Given the description of an element on the screen output the (x, y) to click on. 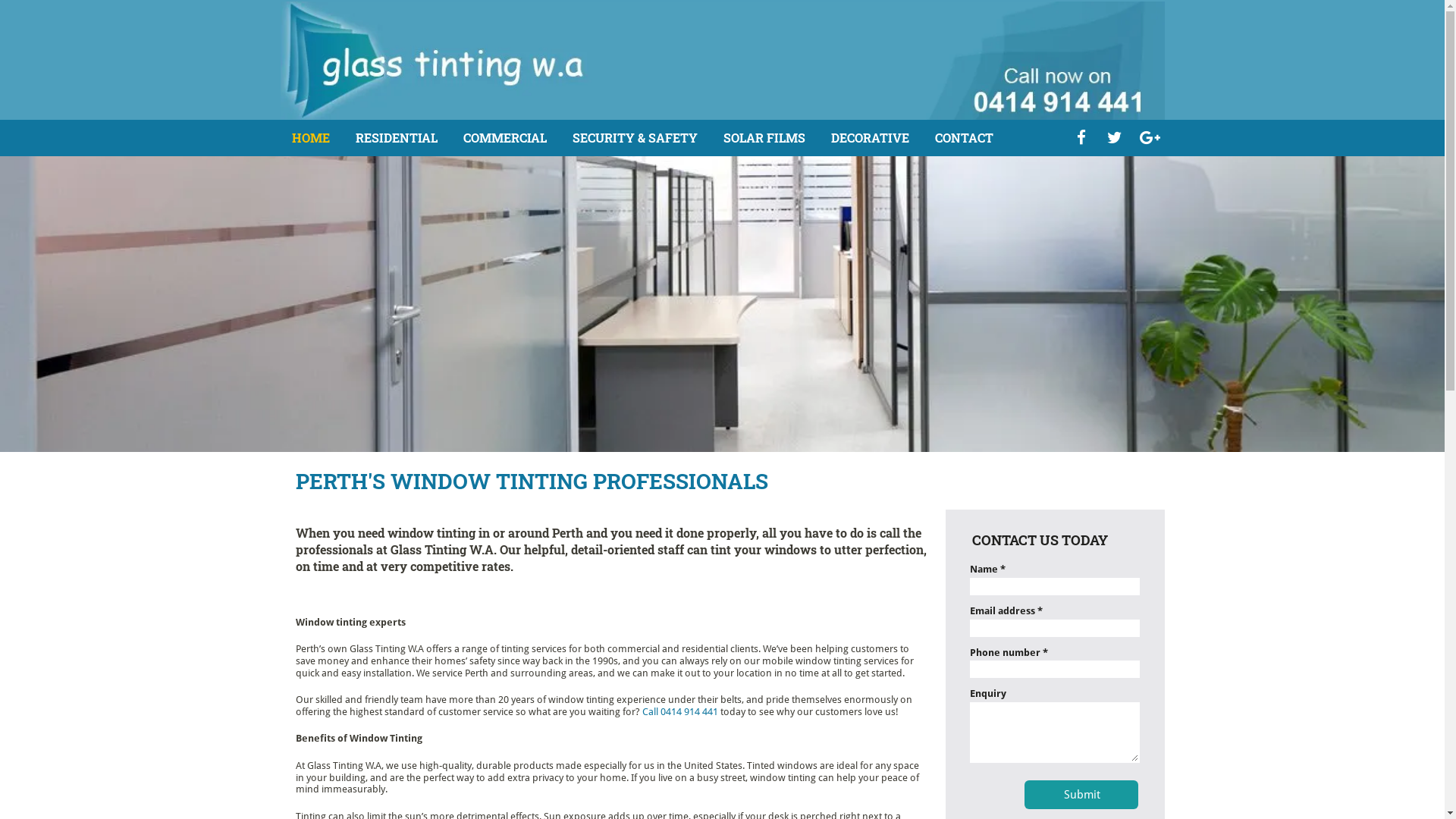
COMMERCIAL Element type: text (504, 137)
DECORATIVE Element type: text (870, 137)
Call 0414 914 441 Element type: text (679, 711)
CONTACT Element type: text (963, 137)
SECURITY & SAFETY Element type: text (633, 137)
RESIDENTIAL Element type: text (395, 137)
Submit Element type: text (1082, 794)
HOME Element type: text (310, 137)
SOLAR FILMS Element type: text (764, 137)
Glass Tinting WA Element type: hover (722, 60)
